Given the description of an element on the screen output the (x, y) to click on. 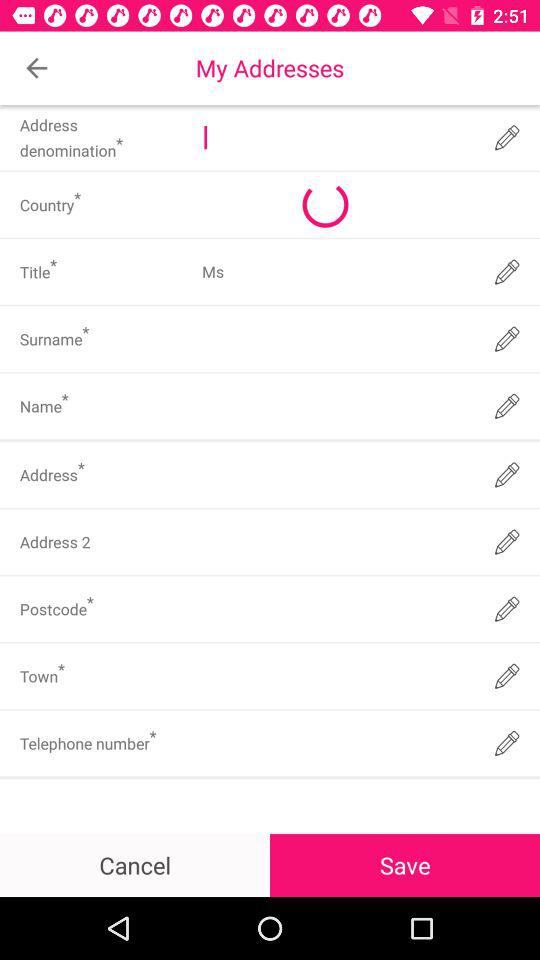
enter address (335, 474)
